Given the description of an element on the screen output the (x, y) to click on. 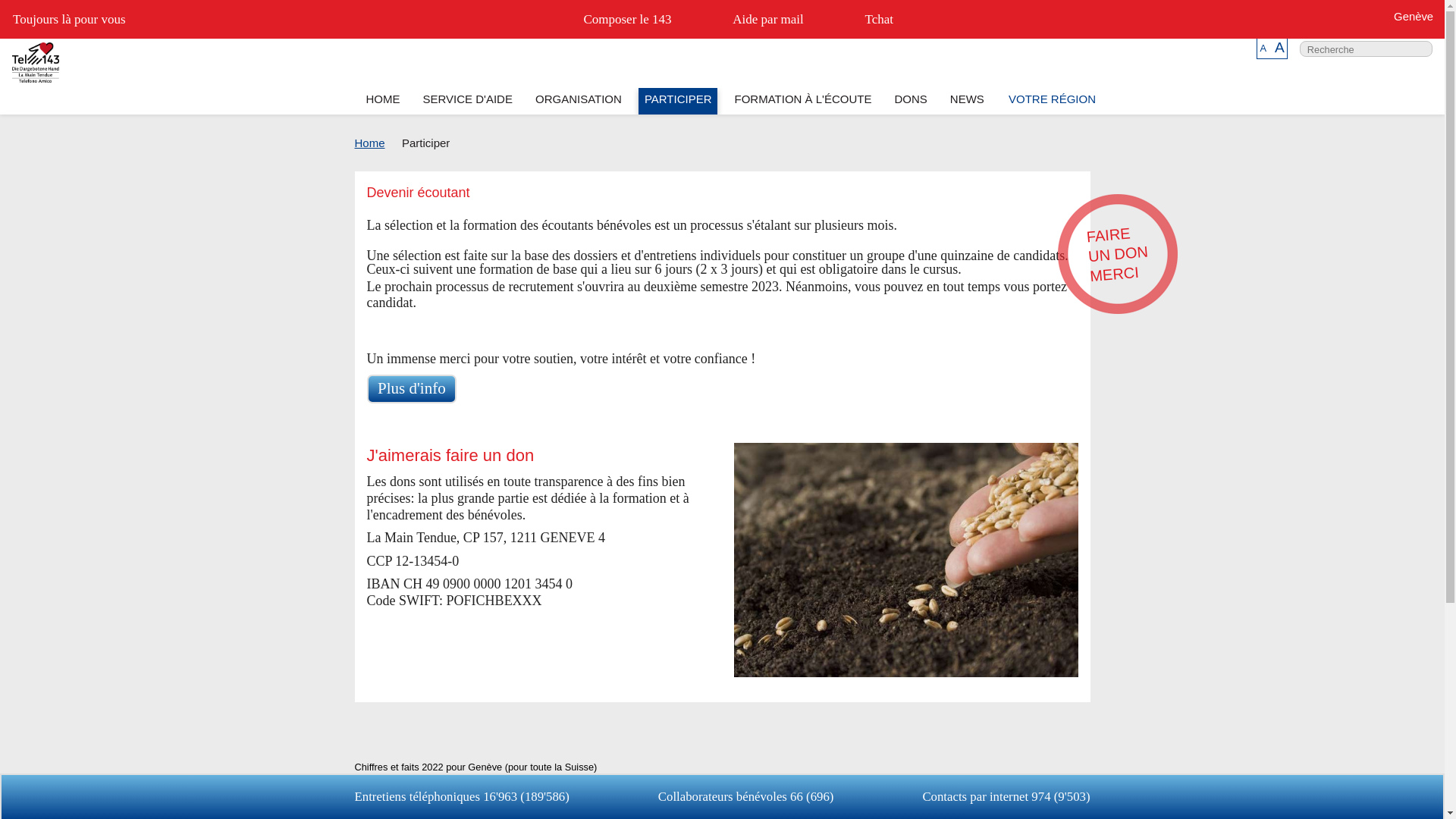
Contacts par internet 974 (9'503) Element type: text (1005, 796)
FAIRE UN DON MERCI Element type: text (1113, 249)
Aide par mail Element type: text (751, 19)
SERVICE D'AIDE Element type: text (467, 100)
Plus d'info Element type: text (412, 389)
Tchat Element type: text (862, 19)
A Element type: text (1279, 47)
HOME Element type: text (382, 100)
Home Element type: text (369, 142)
NEWS Element type: text (966, 100)
ORGANISATION Element type: text (578, 100)
Participer Element type: text (418, 142)
DONS Element type: text (910, 100)
Composer le 143 Element type: text (611, 19)
PARTICIPER Element type: text (677, 100)
A Element type: text (1263, 47)
